Given the description of an element on the screen output the (x, y) to click on. 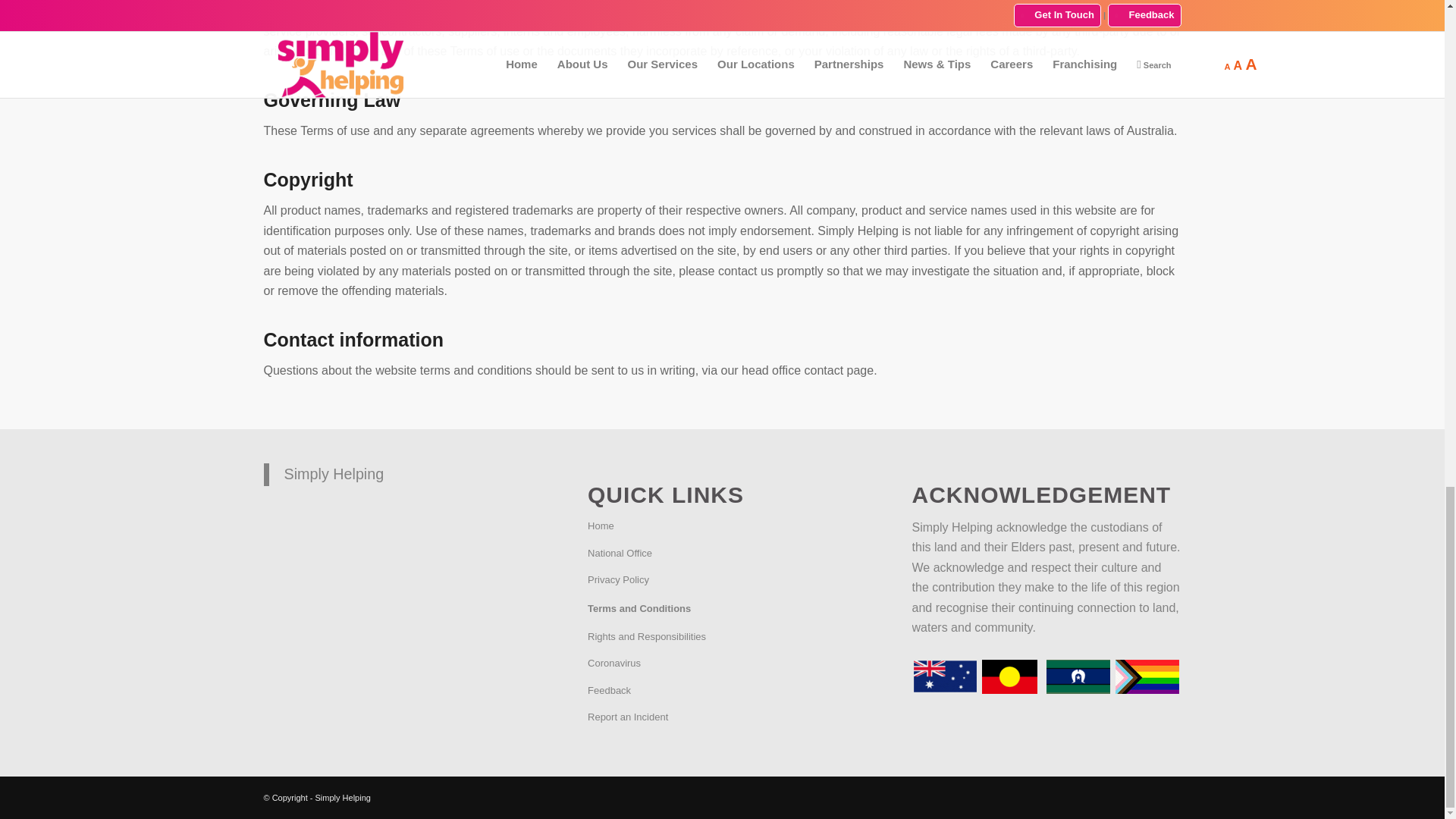
Privacy Policy (722, 580)
Rights and Responsibilities (722, 637)
Coronavirus (722, 663)
Report an Incident (722, 717)
National Office (722, 553)
Feedback (722, 691)
Terms and Conditions (722, 609)
Simply Helping (333, 474)
Home (722, 526)
